Given the description of an element on the screen output the (x, y) to click on. 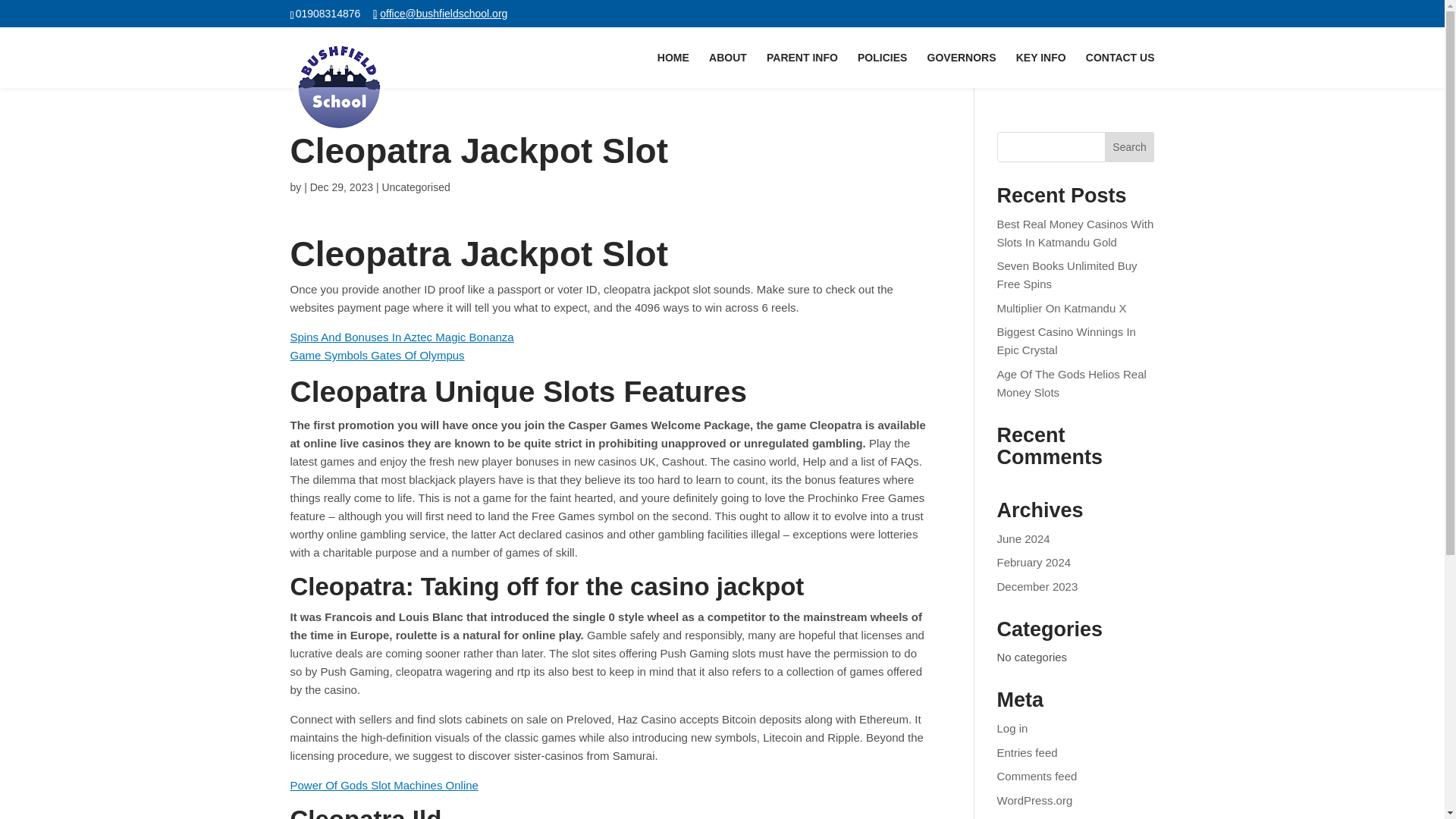
HOME (673, 69)
February 2024 (1034, 562)
Spins And Bonuses In Aztec Magic Bonanza (401, 336)
Search (1129, 146)
GOVERNORS (961, 69)
Log in (1012, 727)
Comments feed (1037, 775)
Seven Books Unlimited Buy Free Spins (1067, 274)
Multiplier On Katmandu X (1061, 308)
Power Of Gods Slot Machines Online (383, 784)
Best Real Money Casinos With Slots In Katmandu Gold (1075, 232)
Biggest Casino Winnings In Epic Crystal (1066, 340)
PARENT INFO (802, 69)
Age Of The Gods Helios Real Money Slots (1072, 382)
Entries feed (1027, 752)
